Given the description of an element on the screen output the (x, y) to click on. 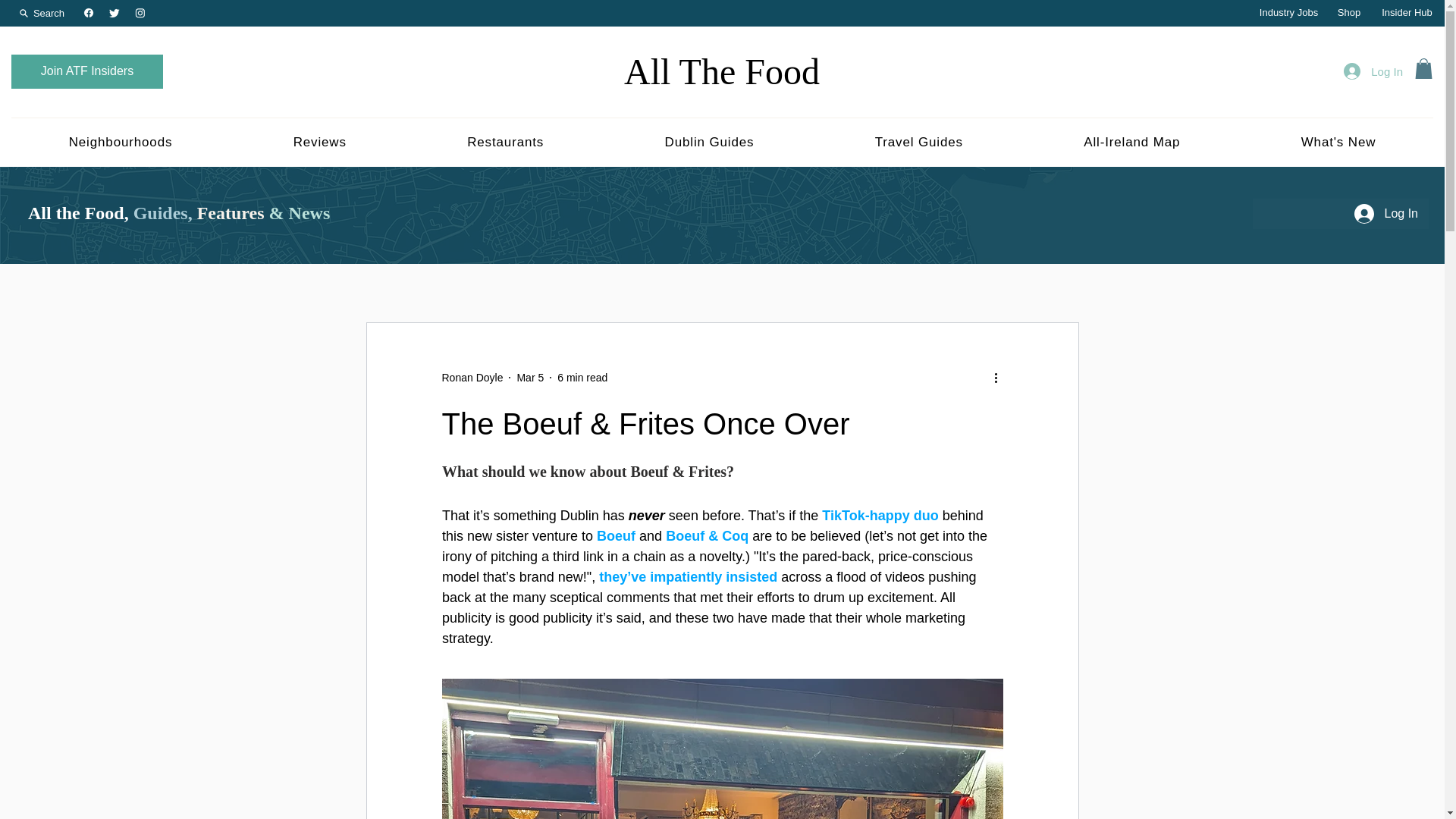
Insider Hub (1407, 12)
Restaurants (505, 141)
Shop (1348, 12)
Neighbourhoods (120, 141)
Ronan Doyle (471, 377)
Join ATF Insiders (87, 71)
Log In (1373, 71)
All The Food (721, 71)
Industry Jobs (1288, 12)
Mar 5 (529, 377)
6 min read (582, 377)
Reviews (319, 141)
Search (42, 12)
